Given the description of an element on the screen output the (x, y) to click on. 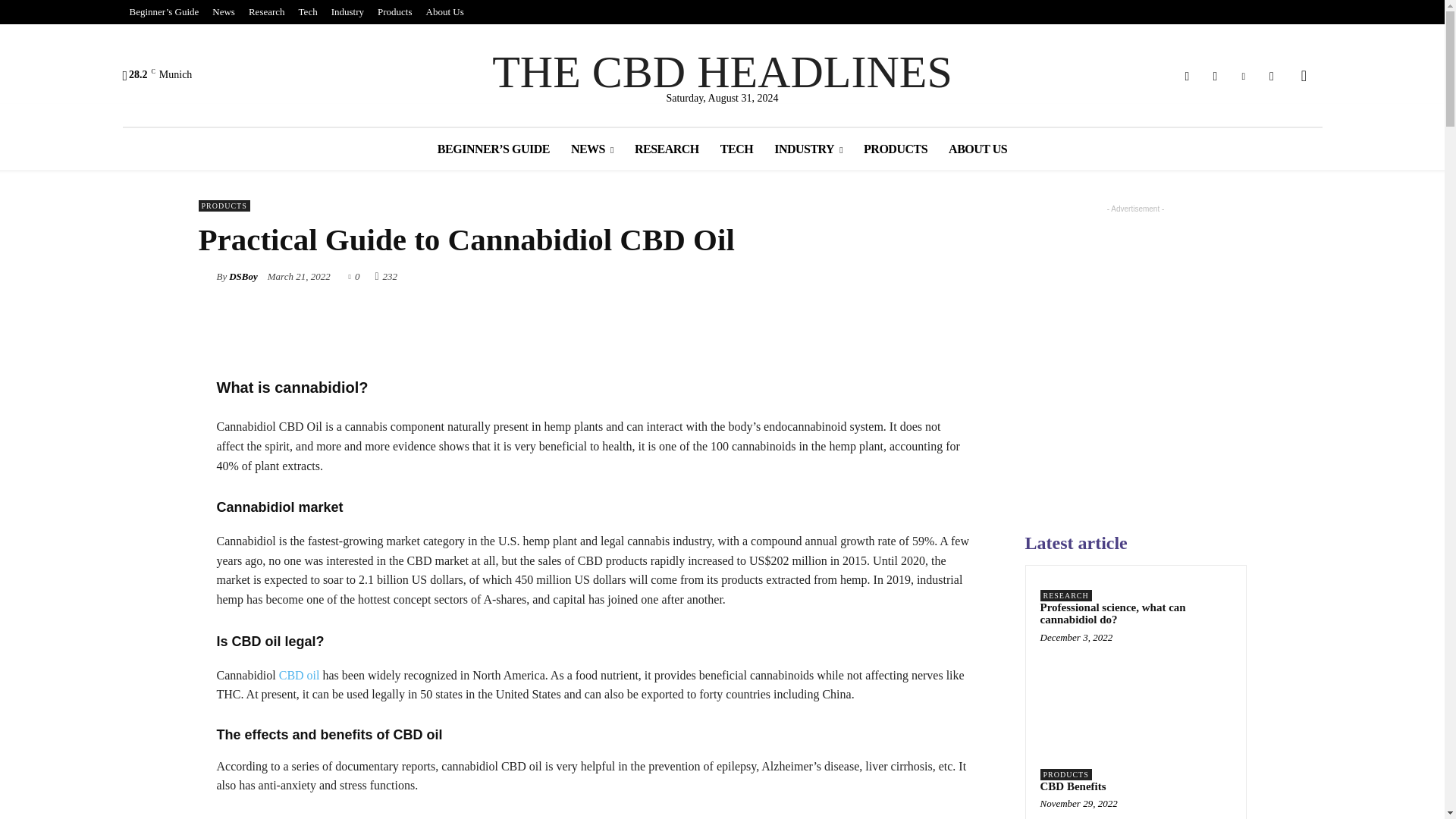
CBD Benefits (1073, 786)
CBD Benefits (1136, 812)
News (223, 12)
Professional science, what can cannabidiol do? (1113, 613)
Professional science, what can cannabidiol do? (1136, 688)
